Given the description of an element on the screen output the (x, y) to click on. 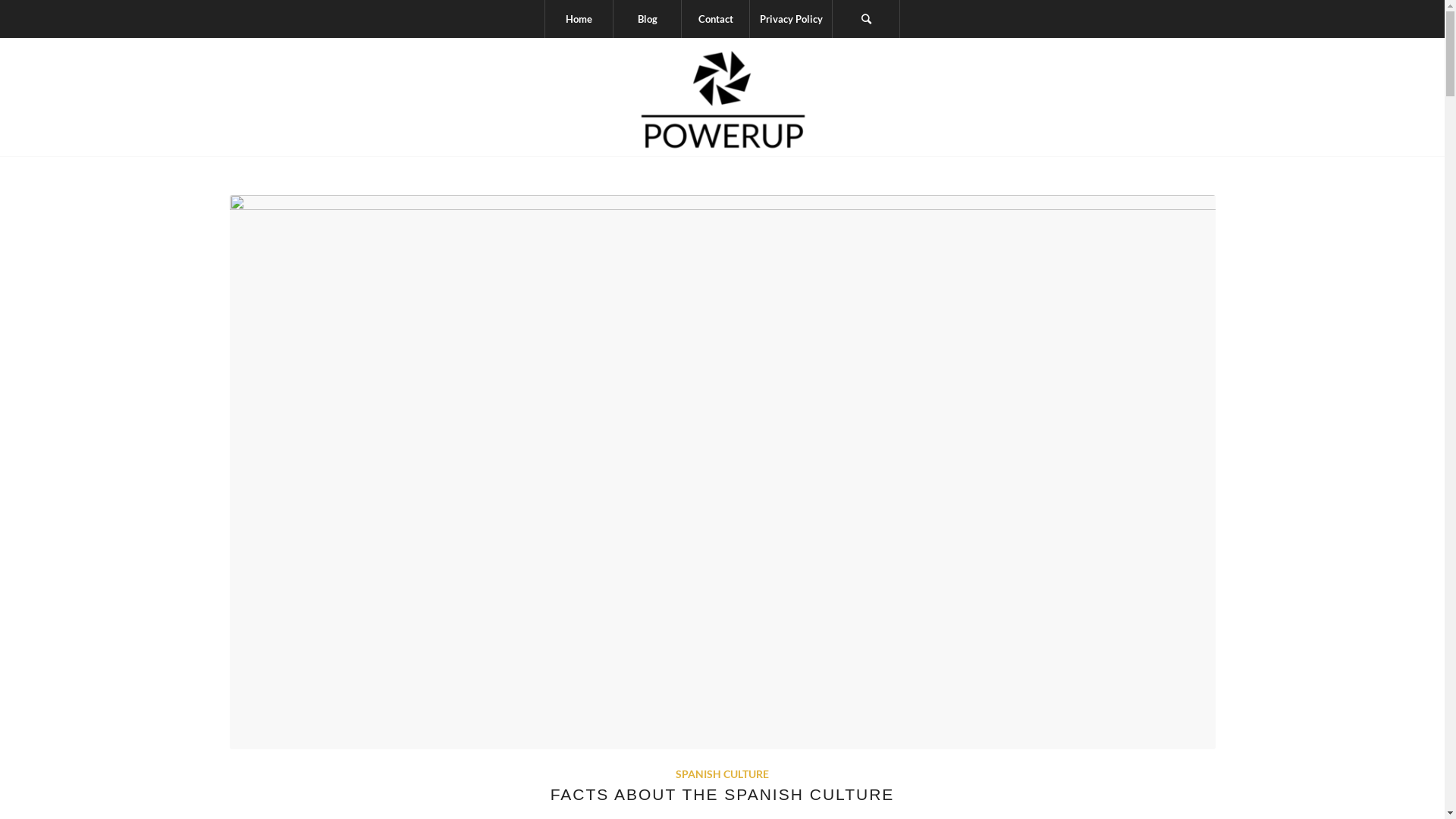
FACTS ABOUT THE SPANISH CULTURE Element type: text (722, 794)
Blog Element type: text (646, 18)
Contact Element type: text (714, 18)
Privacy Policy Element type: text (790, 18)
SPANISH CULTURE Element type: text (721, 774)
Home Element type: text (578, 18)
